Given the description of an element on the screen output the (x, y) to click on. 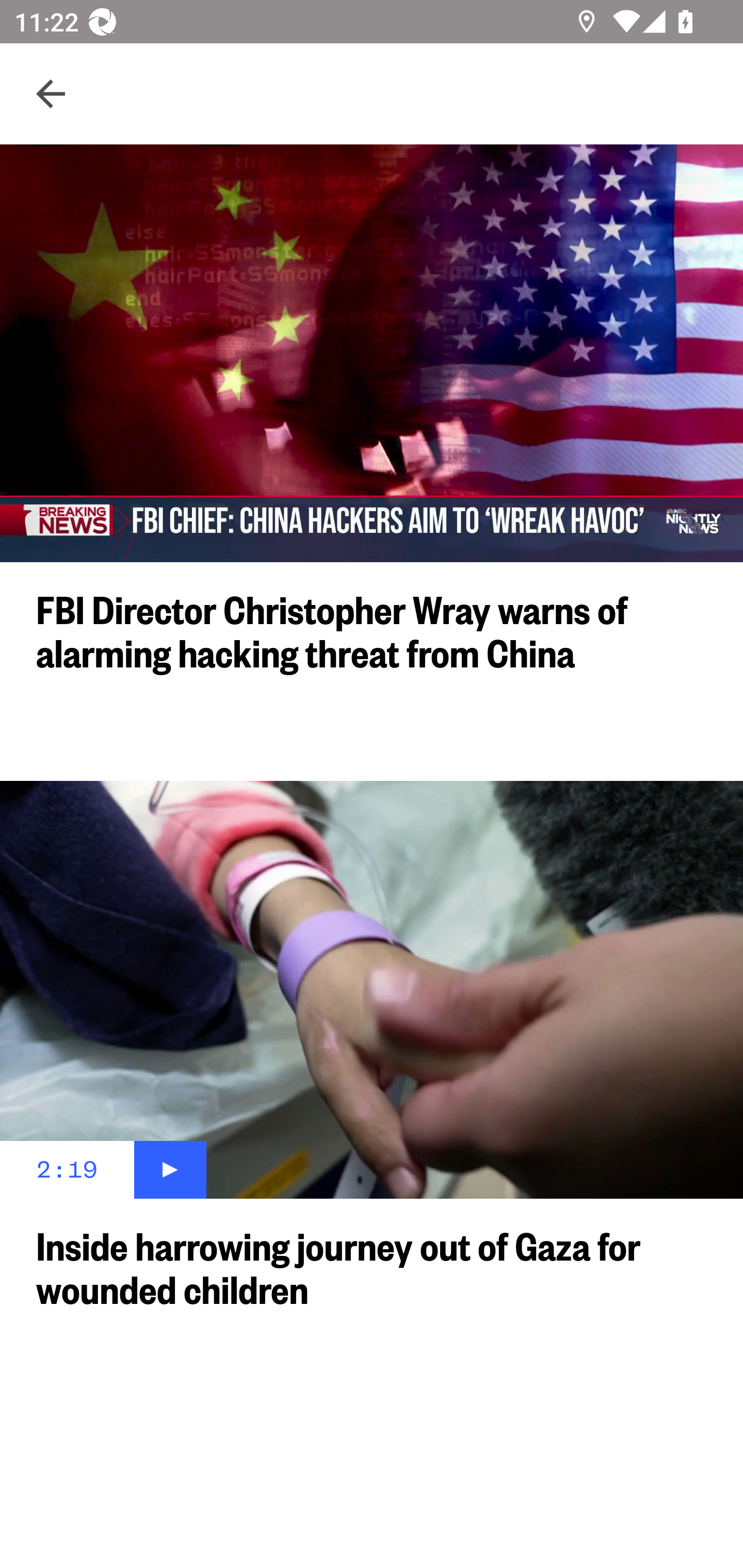
Navigate up (50, 93)
